Given the description of an element on the screen output the (x, y) to click on. 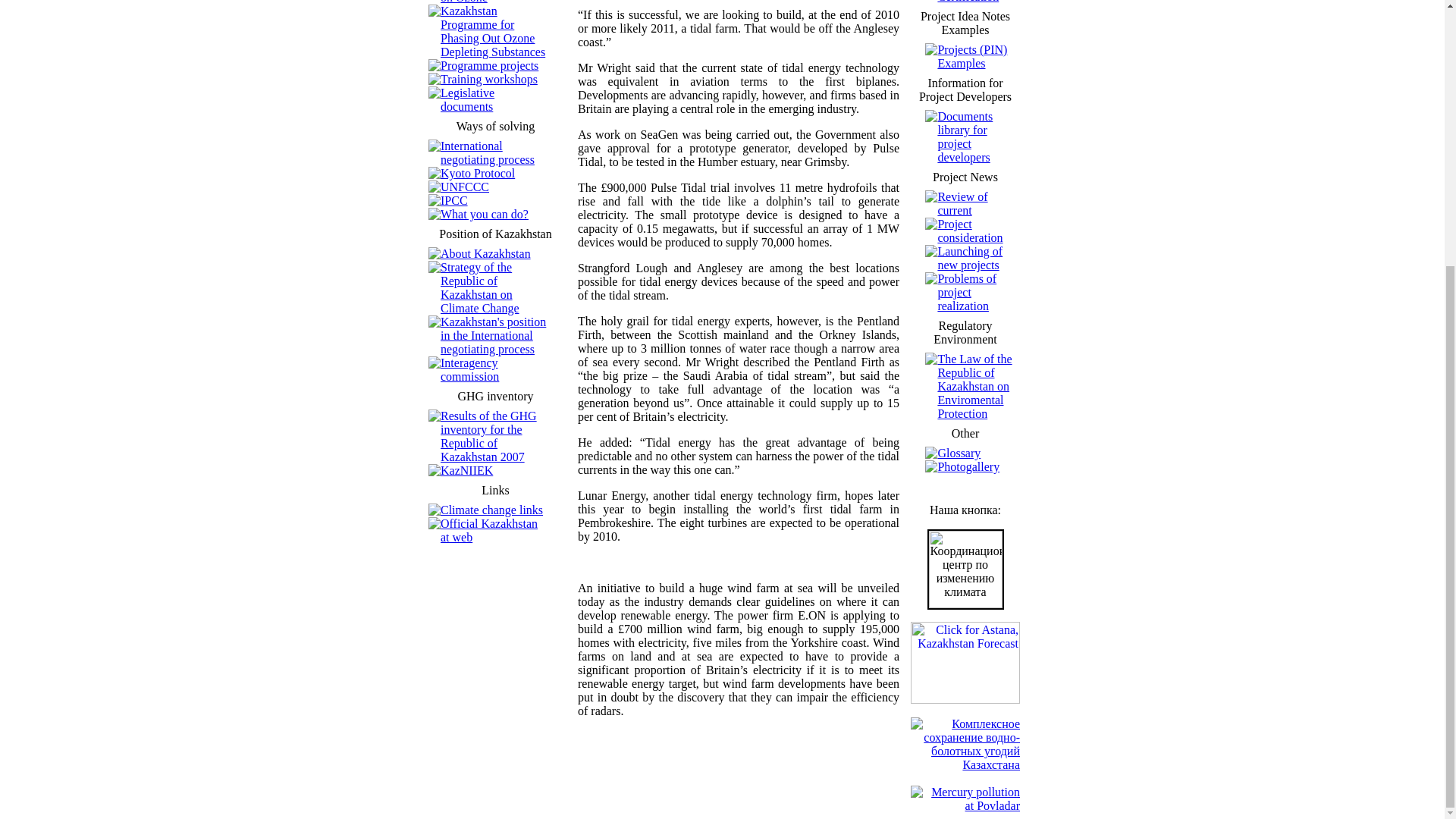
Climate change links (492, 509)
Strategy of the Republic of Kazakhstan on Climate Change (480, 287)
Review of current (962, 203)
Documents library for project developers (964, 136)
UNFCCC (465, 186)
Glossary (958, 452)
International Treaties on Ozone (492, 2)
Training workshops (489, 78)
Problems of project realization (966, 291)
What you can do? (484, 214)
KazNIIEK (467, 470)
Kyoto Protocol (478, 173)
